Given the description of an element on the screen output the (x, y) to click on. 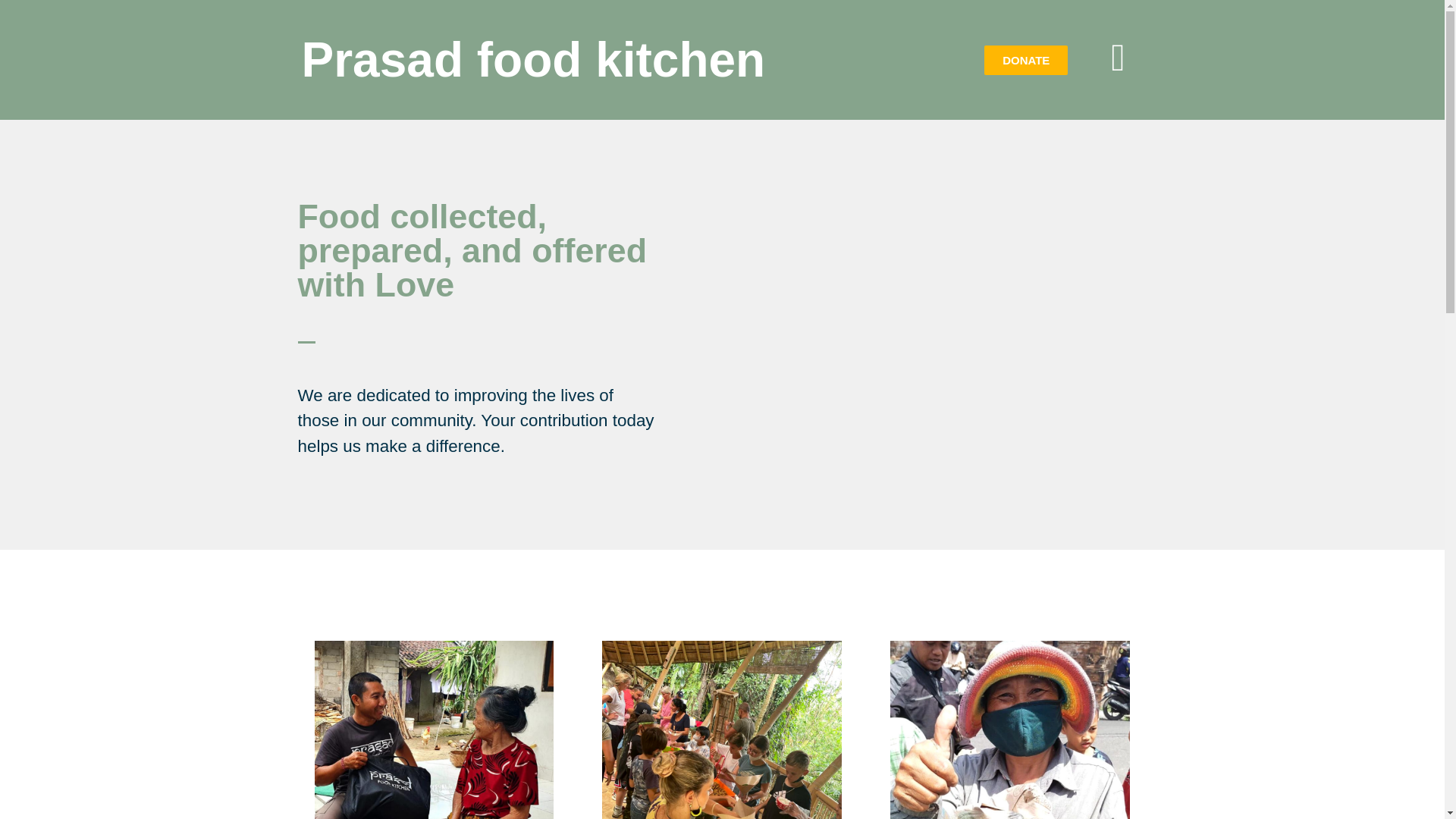
DONATE (1025, 60)
